Given the description of an element on the screen output the (x, y) to click on. 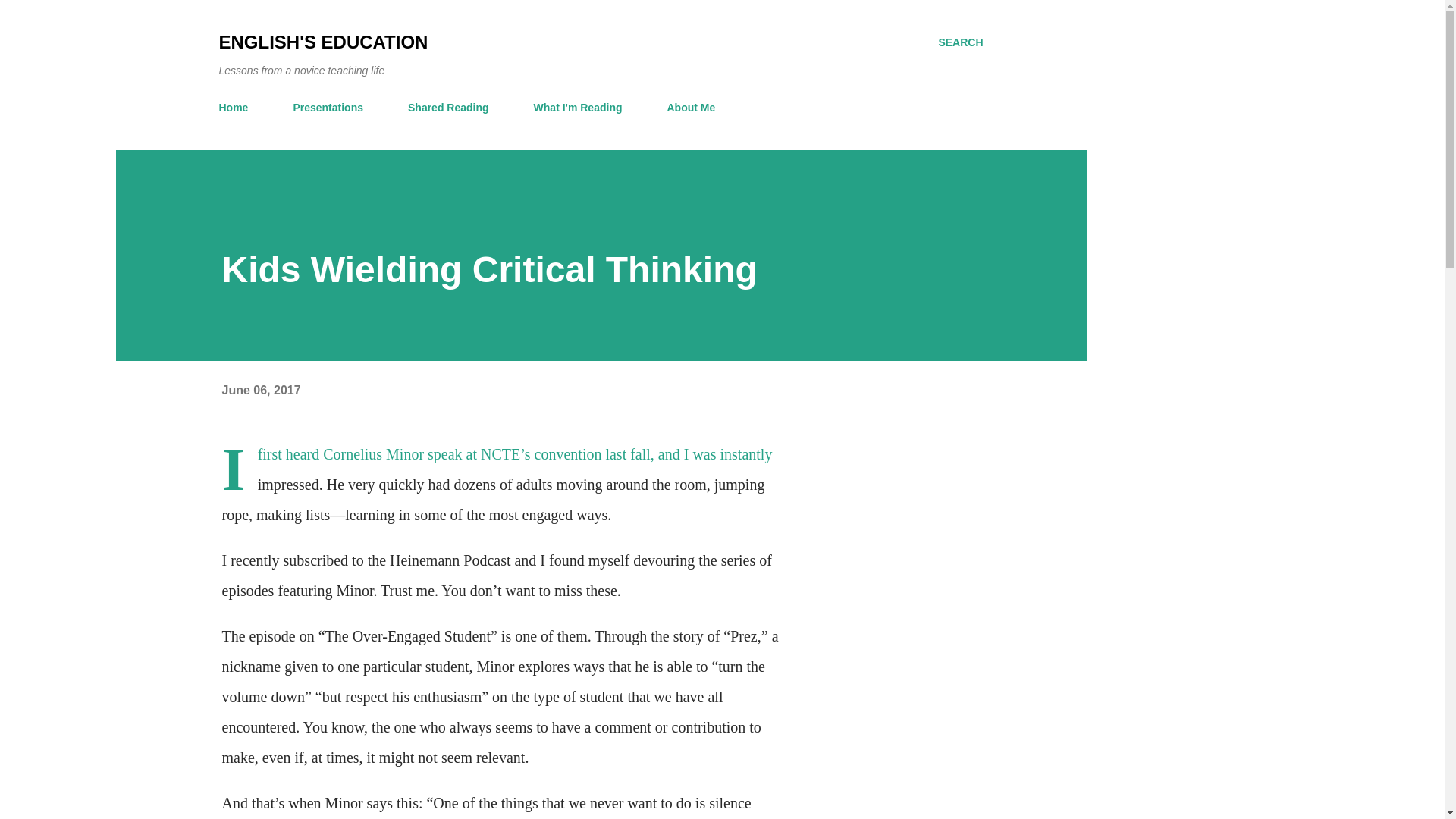
ENGLISH'S EDUCATION (323, 41)
Shared Reading (447, 107)
Presentations (327, 107)
SEARCH (959, 42)
permanent link (260, 390)
June 06, 2017 (260, 390)
Home (237, 107)
About Me (690, 107)
What I'm Reading (577, 107)
